Given the description of an element on the screen output the (x, y) to click on. 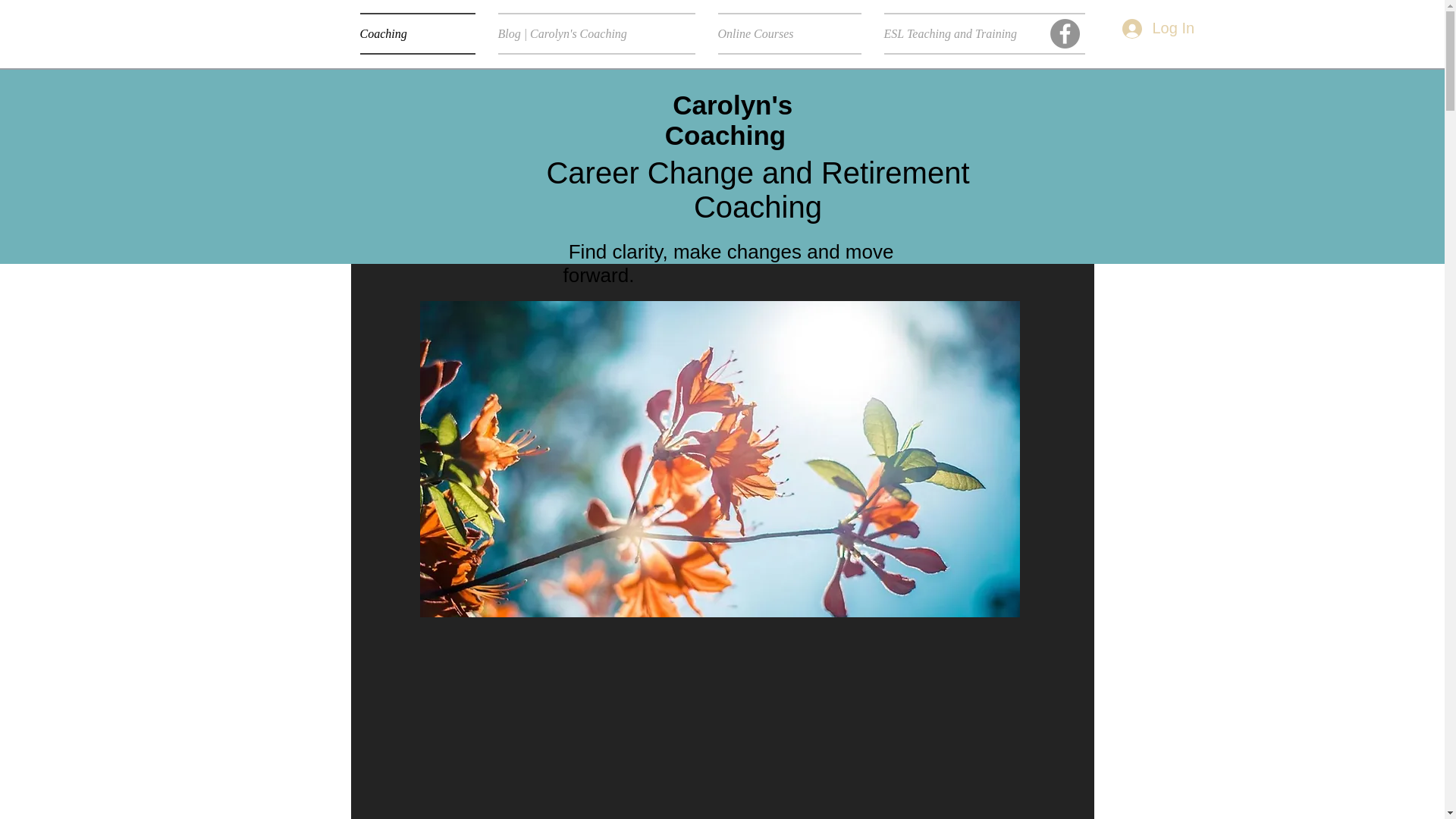
ESL Teaching and Training (978, 33)
Log In (1156, 27)
Coaching (422, 33)
Online Courses (789, 33)
